Given the description of an element on the screen output the (x, y) to click on. 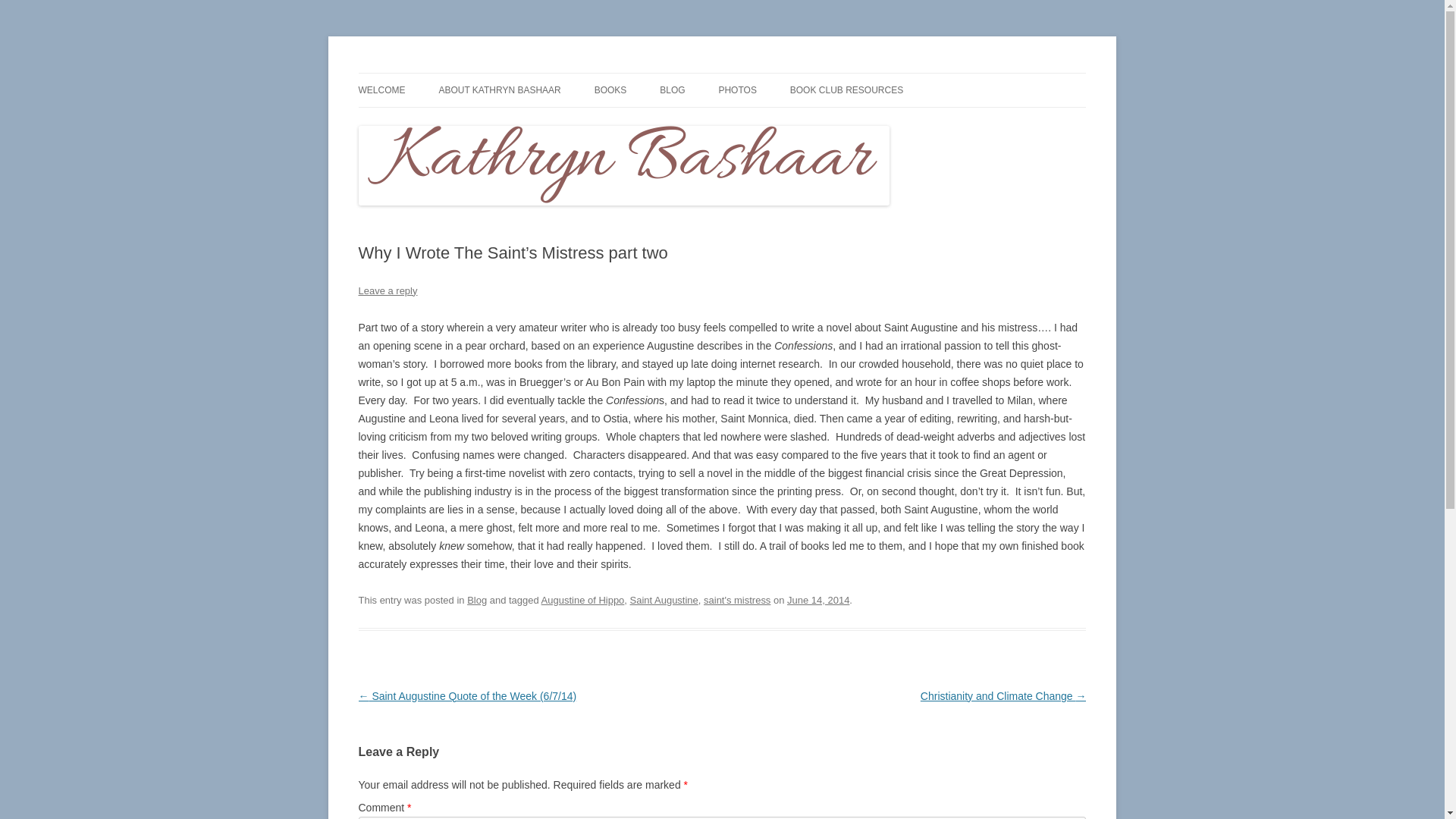
Blog (476, 600)
BOOK CLUB RESOURCES (846, 90)
Kathryn Bashaar (436, 72)
ABOUT KATHRYN BASHAAR (499, 90)
Leave a reply (387, 290)
BOOKS (610, 90)
Saint Augustine (664, 600)
saint's mistress (736, 600)
June 14, 2014 (817, 600)
